Given the description of an element on the screen output the (x, y) to click on. 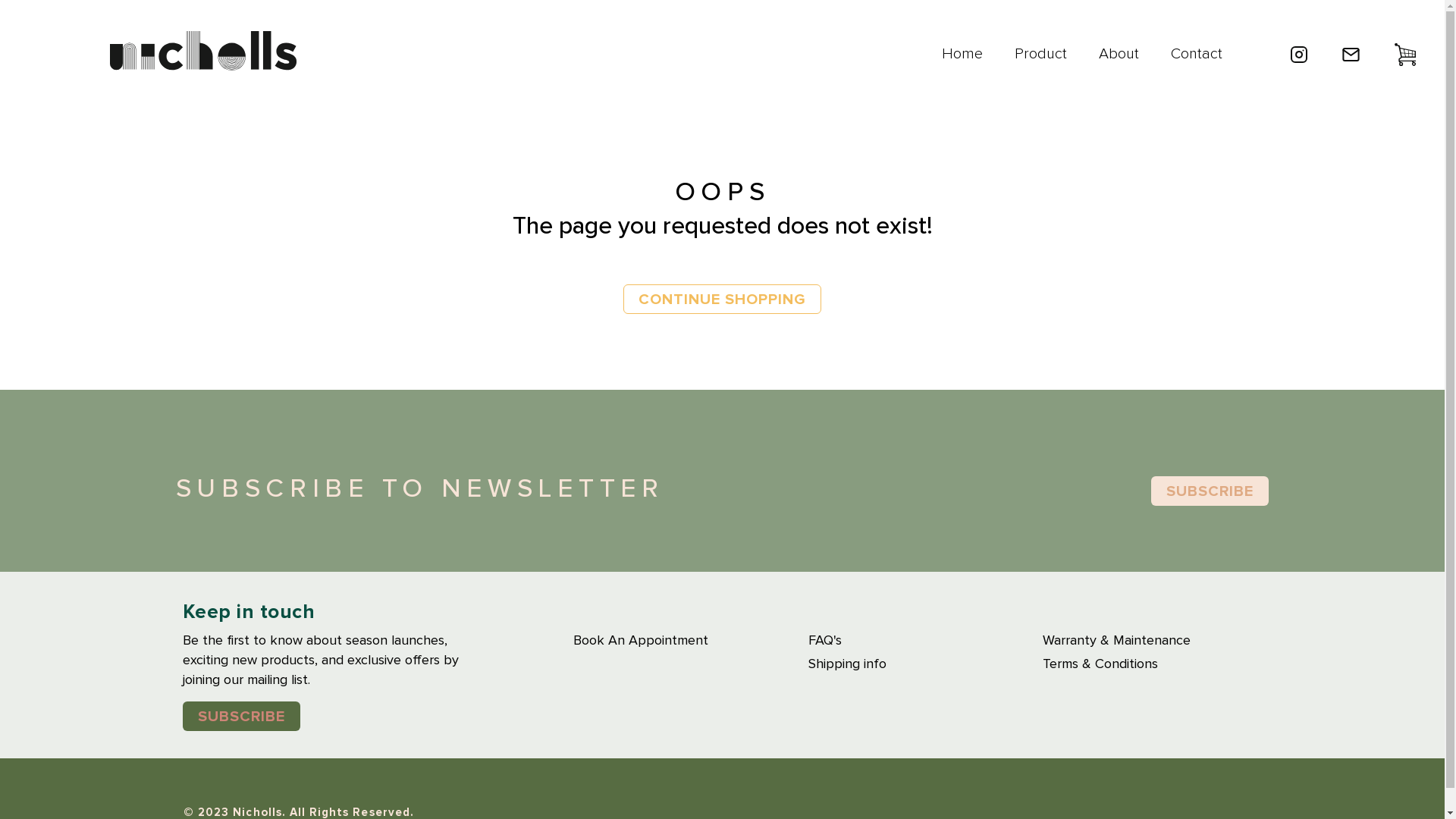
SUBSCRIBE Element type: text (1209, 490)
CONTINUE SHOPPING Element type: text (722, 298)
Contact Element type: text (1196, 55)
Terms & Conditions Element type: text (1159, 663)
Product Element type: text (1040, 55)
Cart Element type: text (1404, 50)
Warranty & Maintenance Element type: text (1159, 640)
FAQ's Element type: text (925, 640)
SUBSCRIBE Element type: text (240, 716)
About Element type: text (1118, 55)
Book An Appointment Element type: text (690, 640)
Contact popup Element type: hover (1350, 50)
Shipping info Element type: text (925, 663)
Home Element type: text (961, 55)
